Given the description of an element on the screen output the (x, y) to click on. 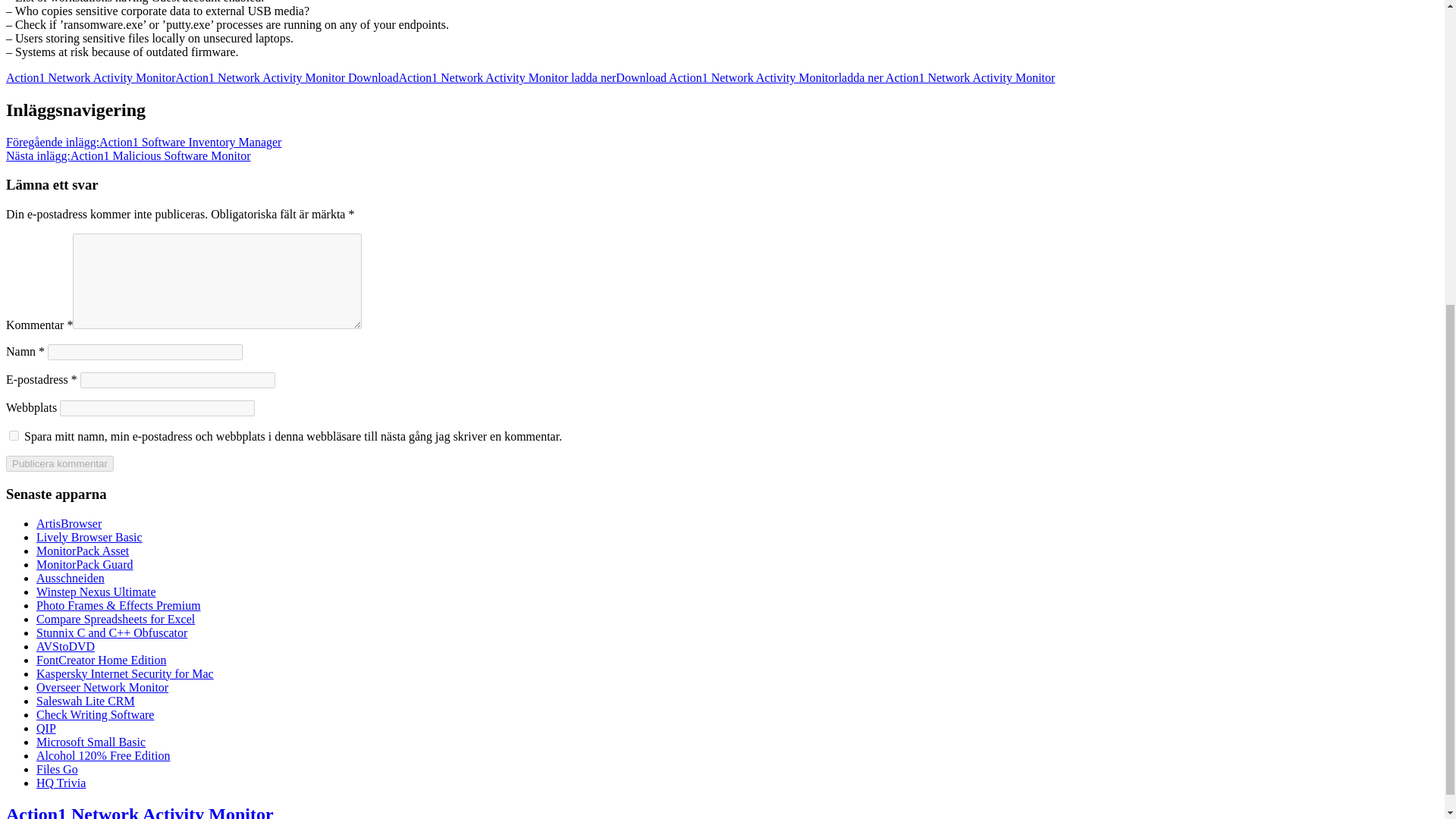
FontCreator Home Edition (101, 659)
AVStoDVD (65, 645)
Action1 Network Activity Monitor ladda ner (506, 77)
Action1 Network Activity Monitor (90, 77)
Winstep Nexus Ultimate (95, 591)
Publicera kommentar (59, 463)
Kaspersky Internet Security for Mac (125, 673)
Overseer Network Monitor (102, 686)
Publicera kommentar (59, 463)
QIP (46, 727)
Compare Spreadsheets for Excel (115, 618)
ArtisBrowser (68, 522)
Check Writing Software (95, 714)
MonitorPack Asset (82, 550)
Lively Browser Basic (89, 536)
